Given the description of an element on the screen output the (x, y) to click on. 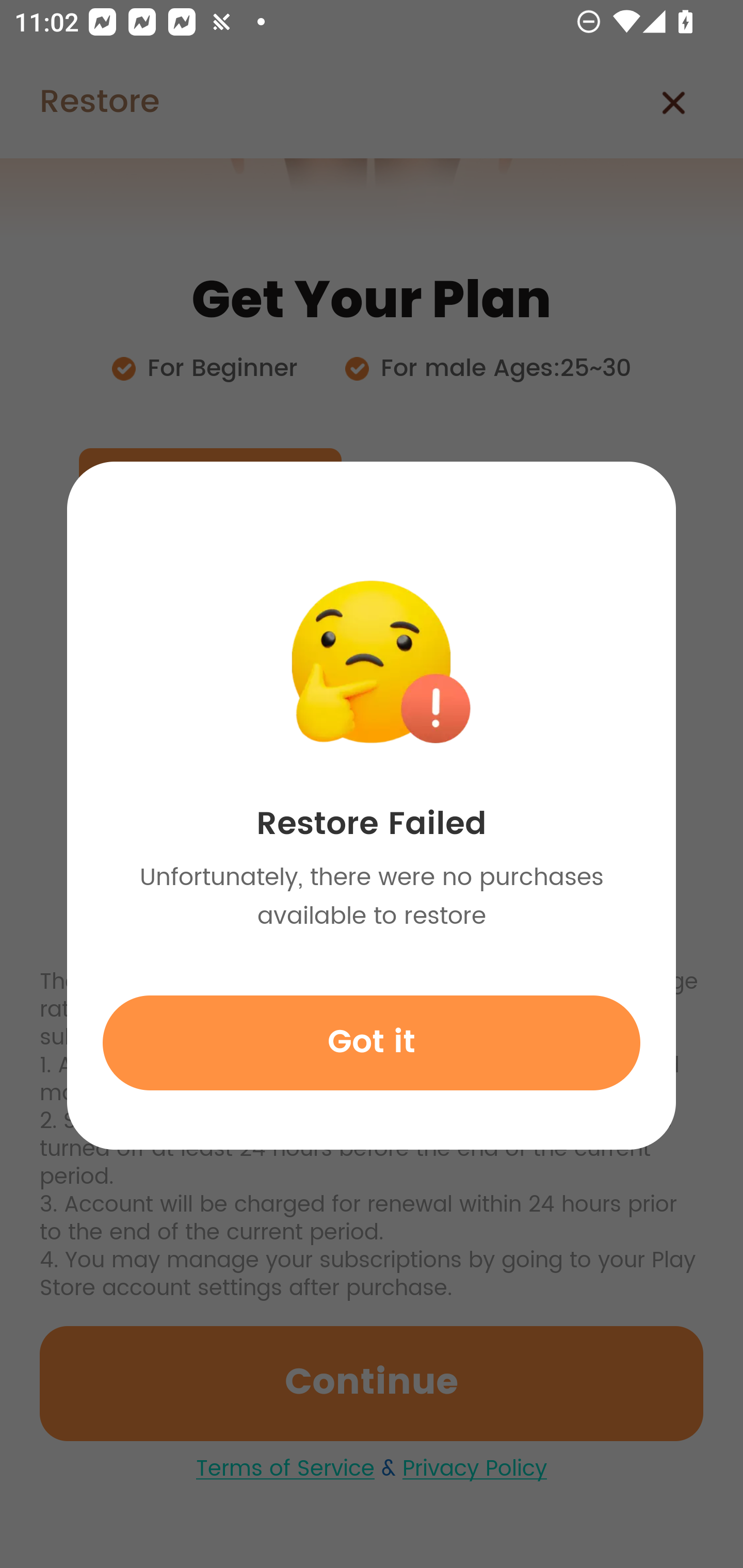
Got it (371, 1042)
